Given the description of an element on the screen output the (x, y) to click on. 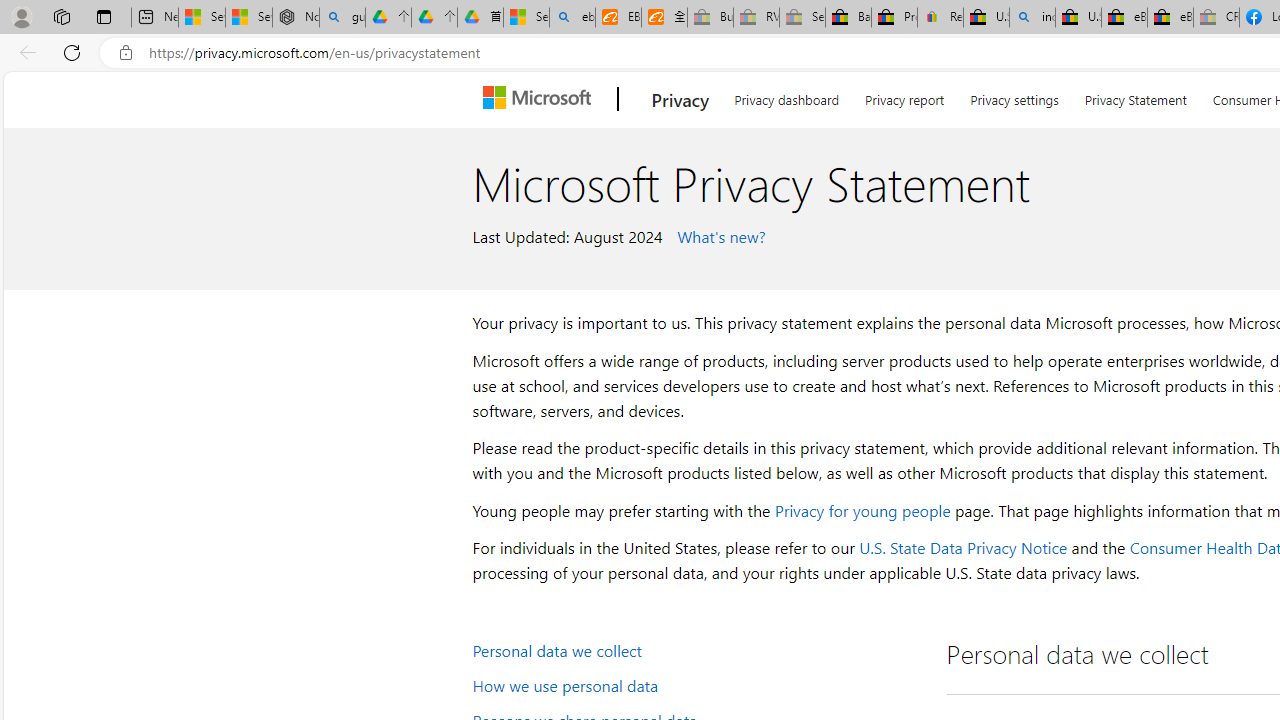
How we use personal data (696, 684)
Baby Keepsakes & Announcements for sale | eBay (848, 17)
Buy Auto Parts & Accessories | eBay - Sleeping (710, 17)
New tab (154, 17)
Microsoft (541, 99)
Privacy report (904, 96)
Back (24, 52)
Privacy report (904, 96)
Privacy Statement (1135, 96)
Press Room - eBay Inc. (893, 17)
Privacy settings (1014, 96)
including - Search (1031, 17)
eBay Inc. Reports Third Quarter 2023 Results (1170, 17)
Sell worldwide with eBay - Sleeping (802, 17)
